Given the description of an element on the screen output the (x, y) to click on. 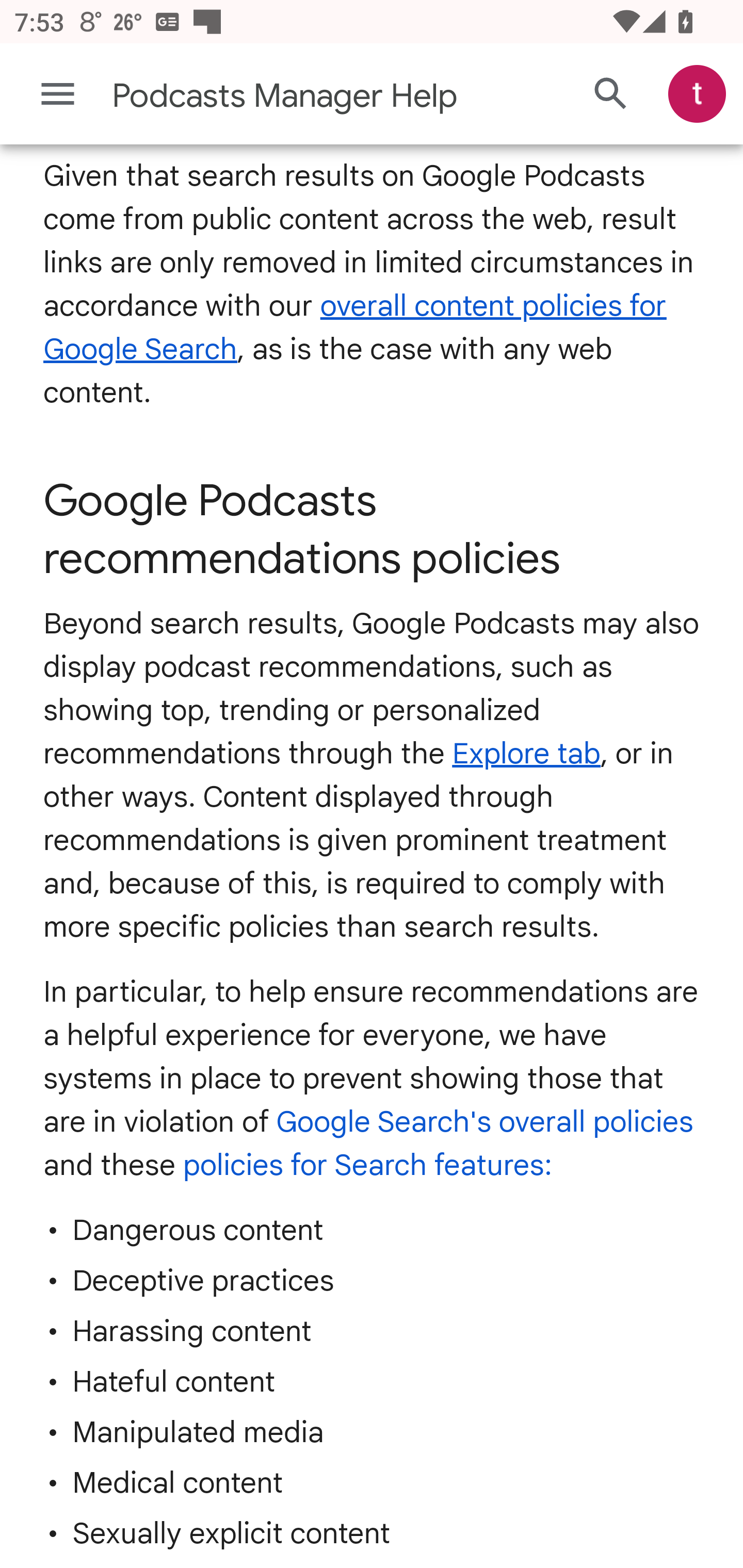
Main menu (58, 93)
Podcasts Manager Help (292, 96)
Search Help Center (611, 94)
overall content policies for Google Search (355, 327)
Explore tab (526, 753)
Google Search's overall policies (484, 1121)
policies for Search features: (367, 1164)
